Given the description of an element on the screen output the (x, y) to click on. 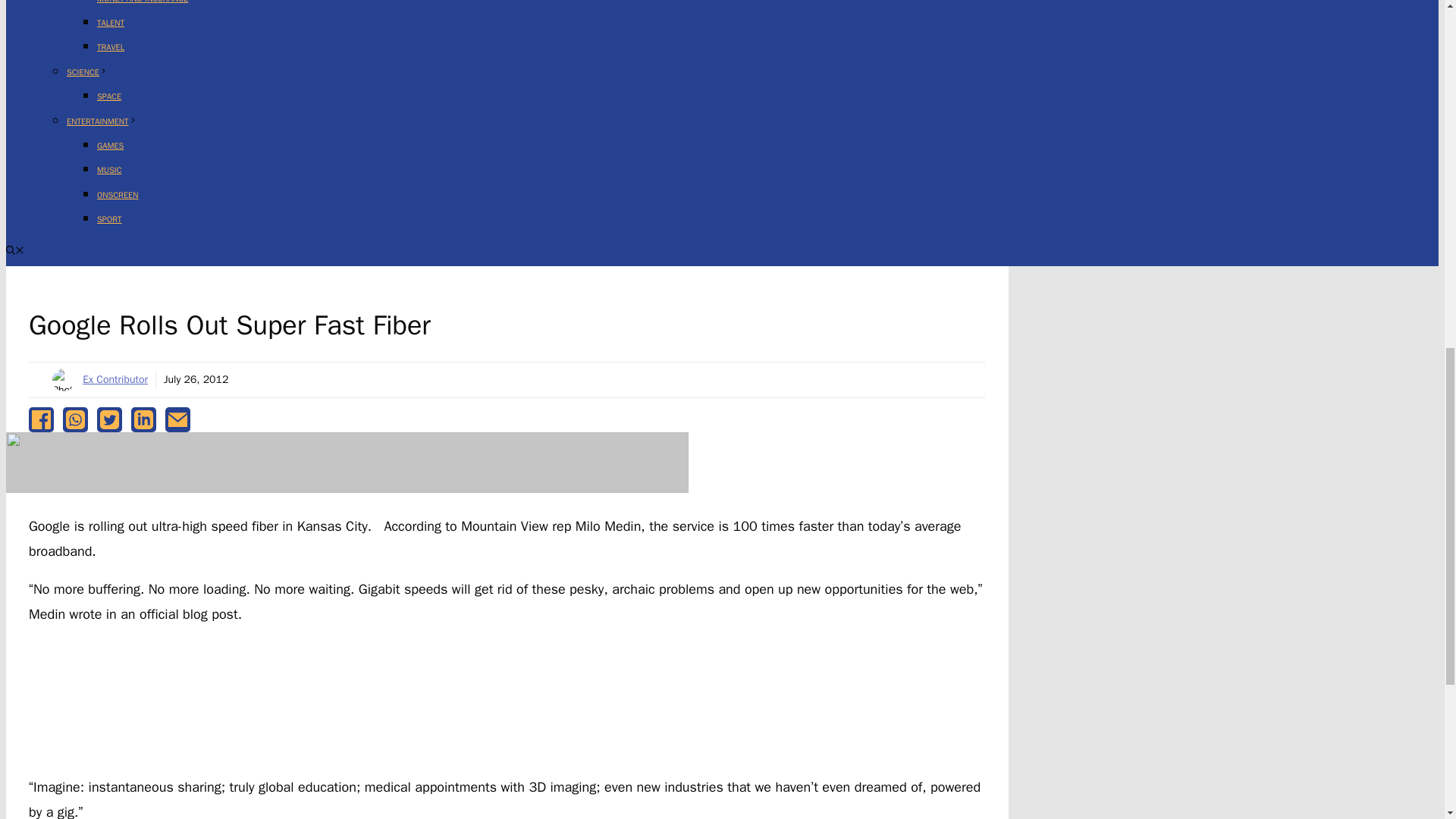
TALENT (110, 22)
ENTERTAINMENT (101, 121)
GAMES (110, 145)
TRAVEL (110, 46)
SCIENCE (86, 71)
SPACE (108, 95)
MUSIC (109, 169)
MONEY AND INSURANCE (142, 2)
